Given the description of an element on the screen output the (x, y) to click on. 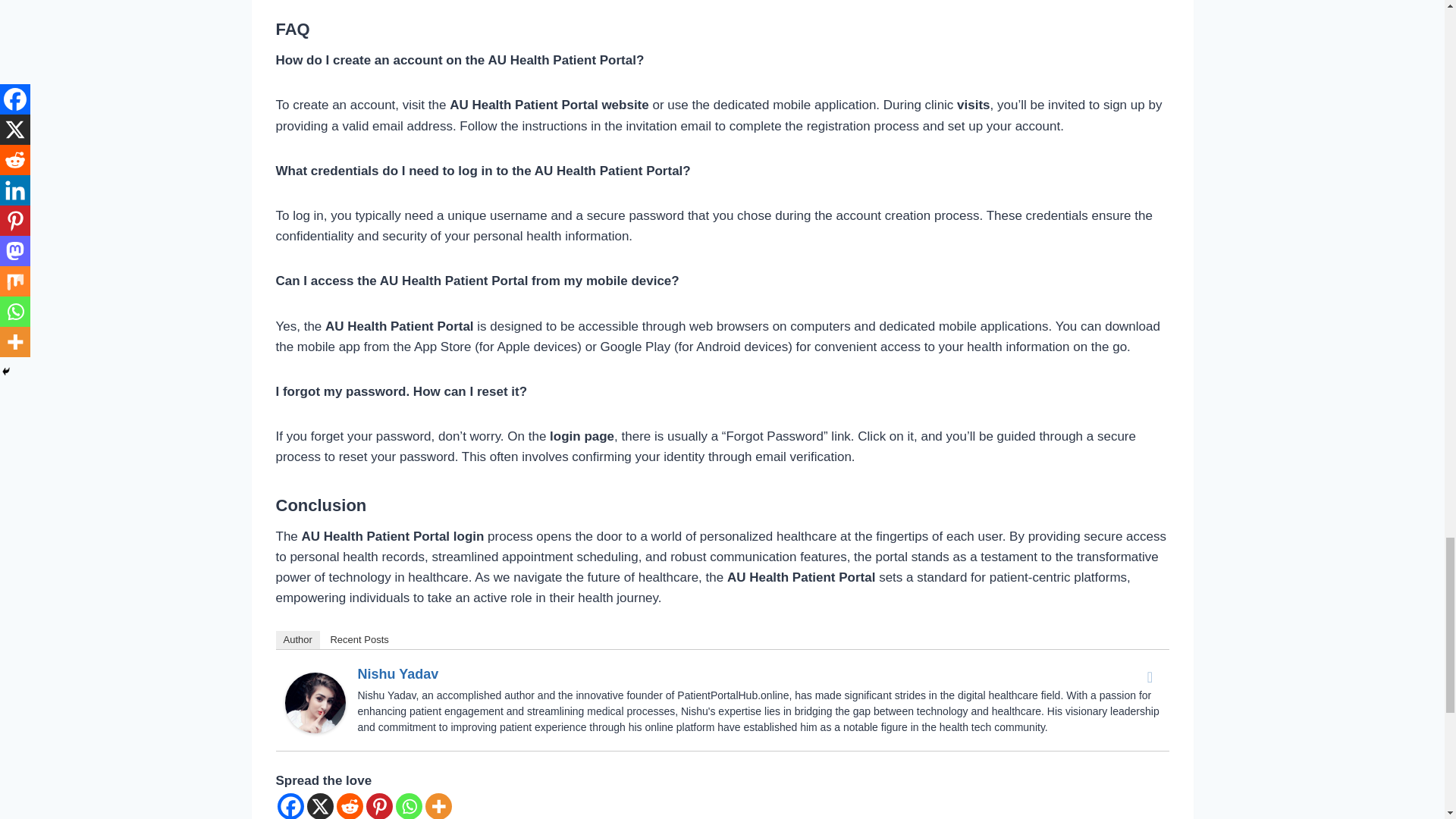
Recent Posts (358, 639)
Twitter (1149, 677)
Author (298, 639)
Nishu Yadav (315, 702)
